Given the description of an element on the screen output the (x, y) to click on. 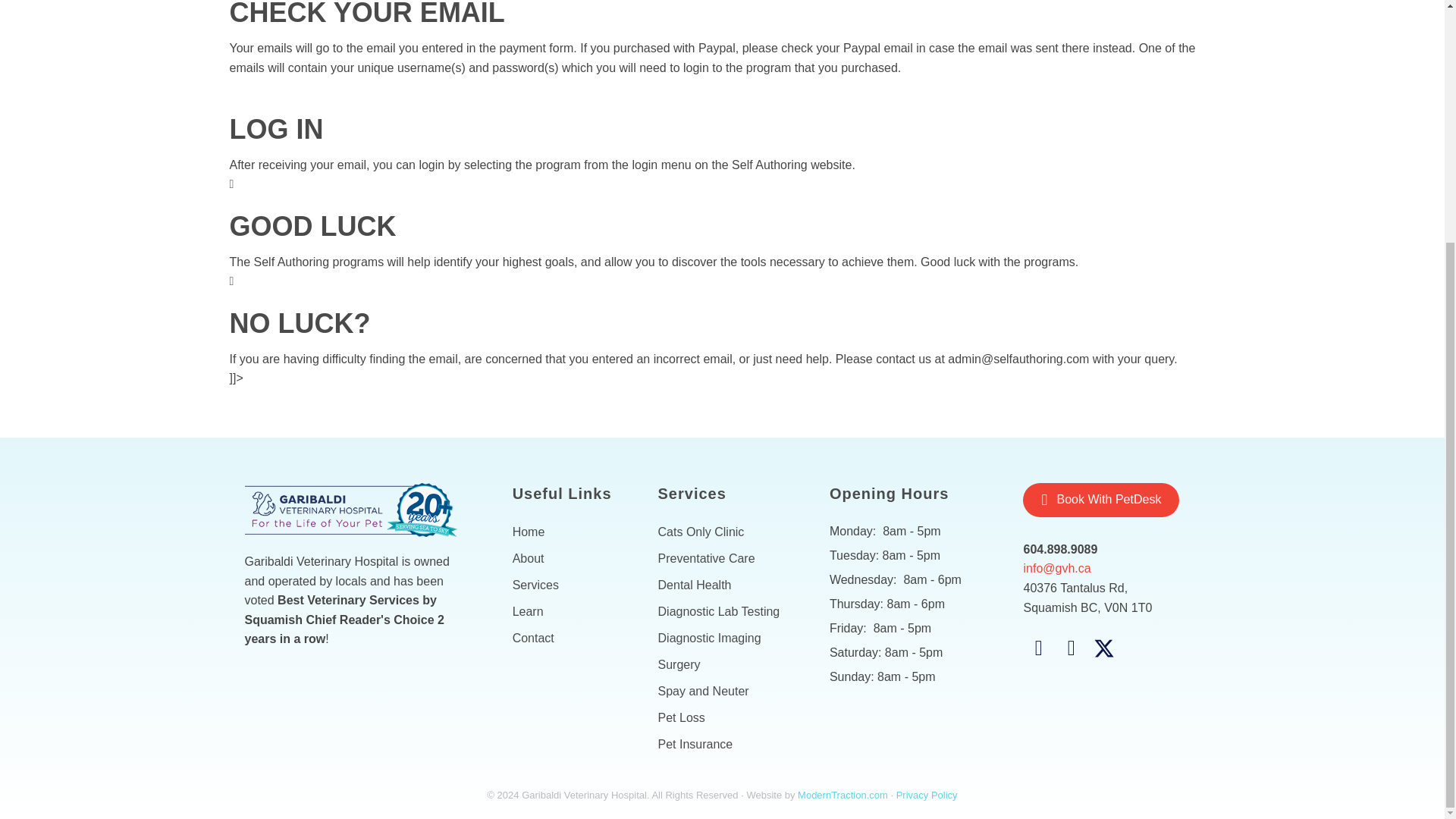
Facebook (1038, 647)
Instagram (1070, 647)
Surgery (726, 664)
About (573, 558)
Pet Loss (726, 718)
Diagnostic Imaging (726, 638)
Contact (573, 638)
Learn (573, 611)
Services (573, 585)
Spay and Neuter (726, 691)
Preventative Care (726, 558)
Cats Only Clinic (726, 532)
Dental Health (726, 585)
Diagnostic Lab Testing (726, 611)
Home (573, 532)
